Given the description of an element on the screen output the (x, y) to click on. 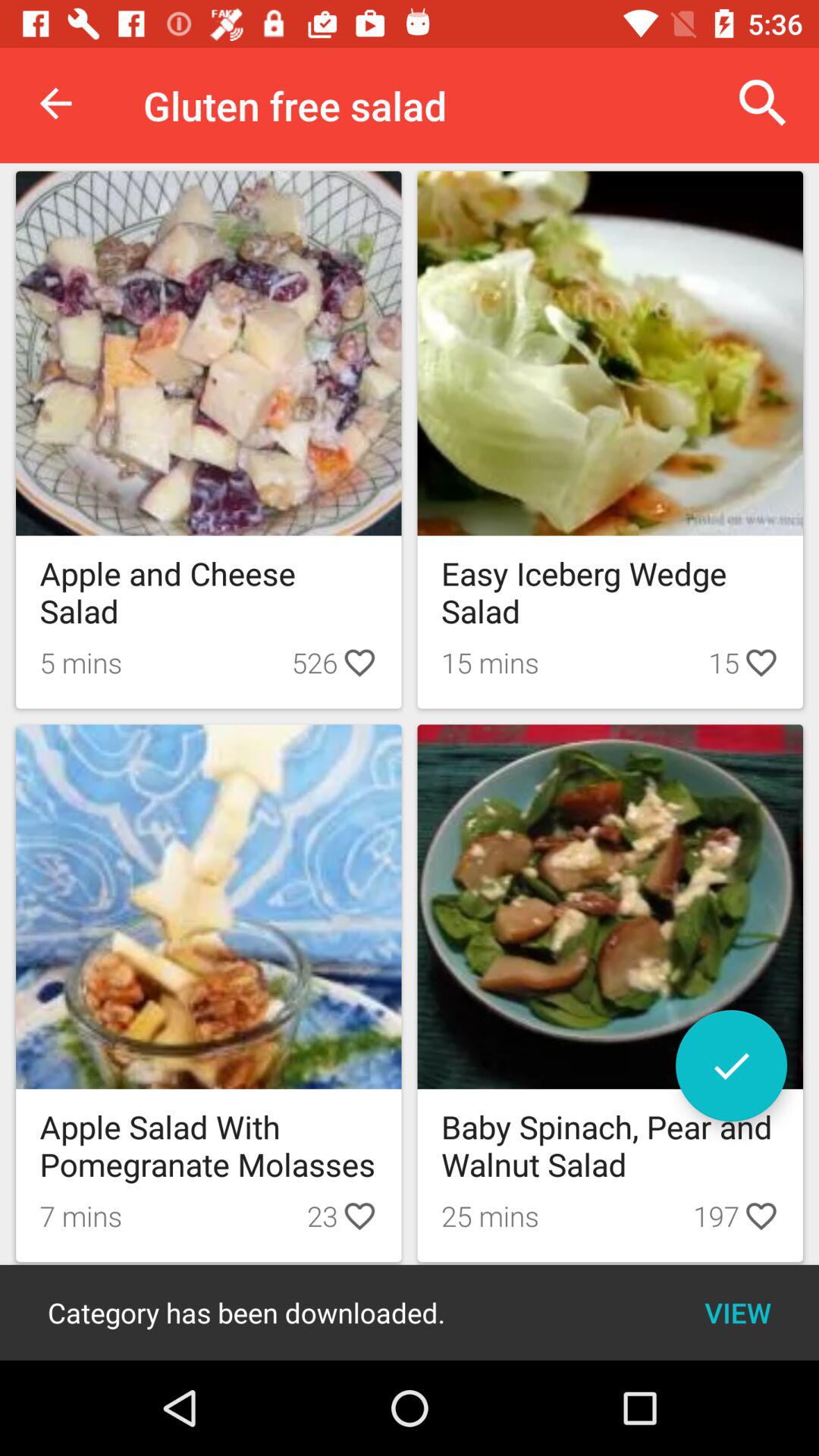
choose the item below 197 item (737, 1312)
